Given the description of an element on the screen output the (x, y) to click on. 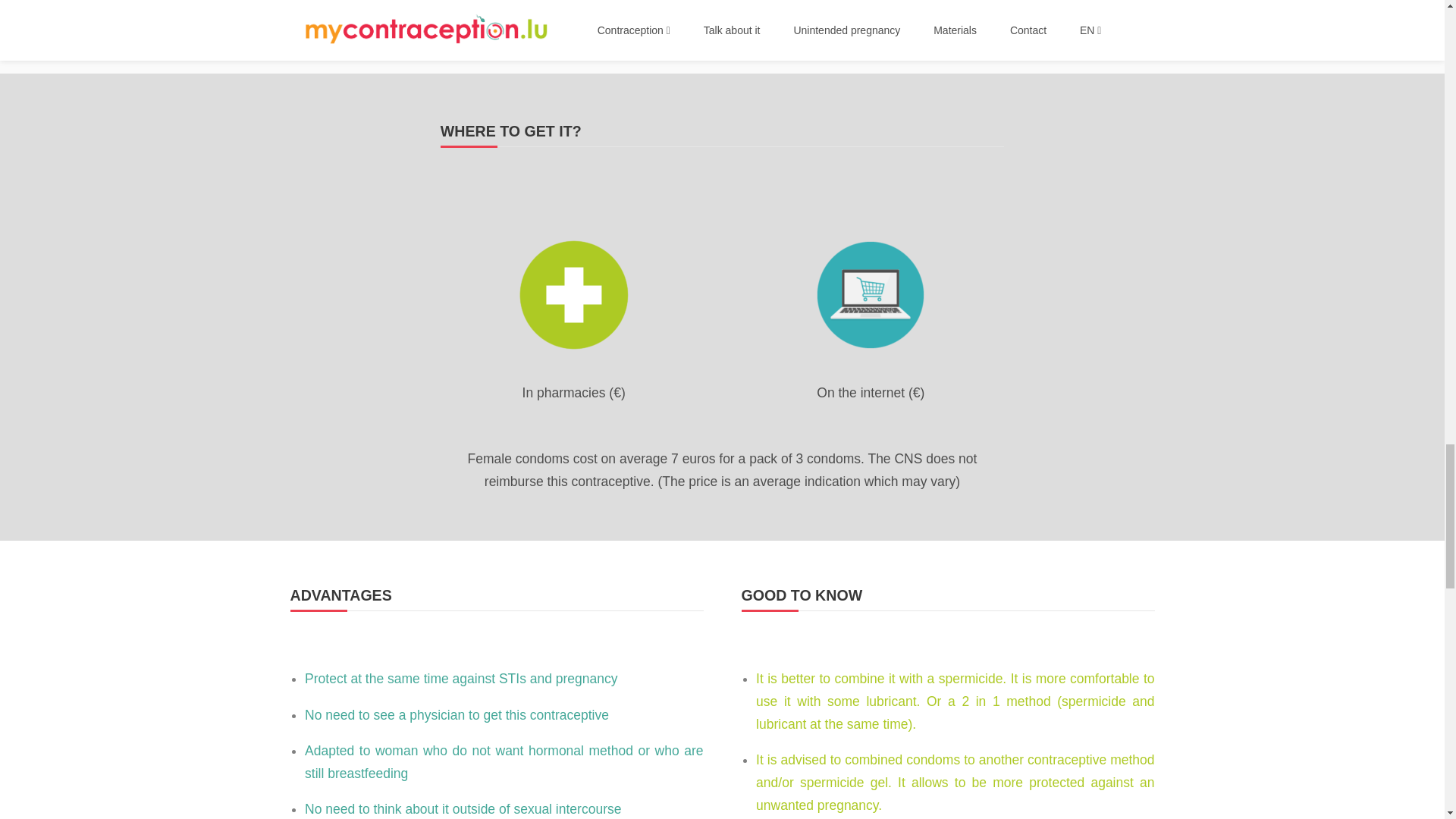
Pharmacie (573, 295)
Online-shop (870, 295)
